Given the description of an element on the screen output the (x, y) to click on. 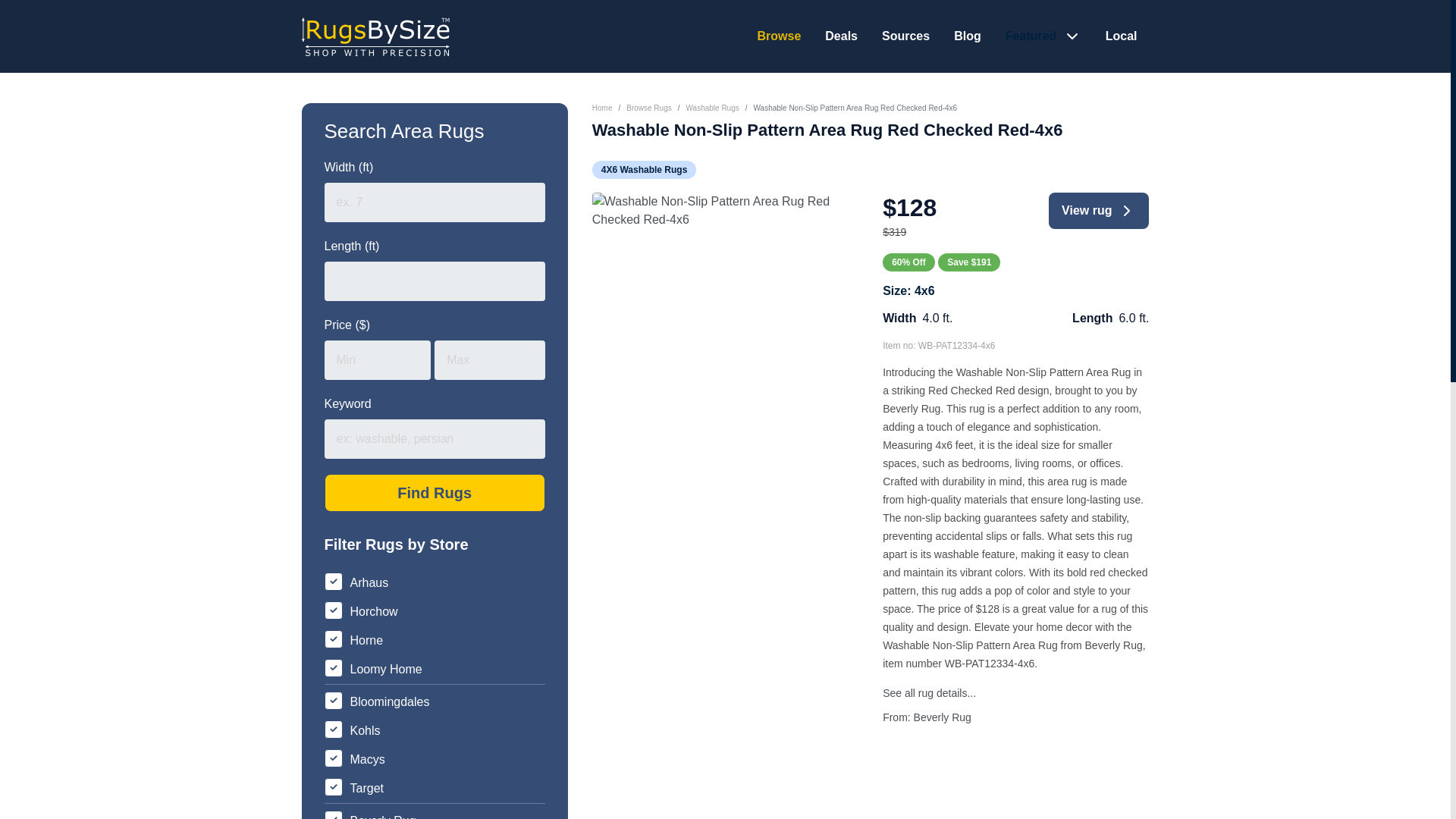
See all rug details... (928, 693)
Find Rugs (434, 492)
Sources (906, 35)
Beverly Rug (942, 717)
Browse Rugs (648, 108)
Deals (841, 35)
Local (1121, 35)
Featured (1032, 35)
Home (602, 108)
View rug (1098, 210)
